Given the description of an element on the screen output the (x, y) to click on. 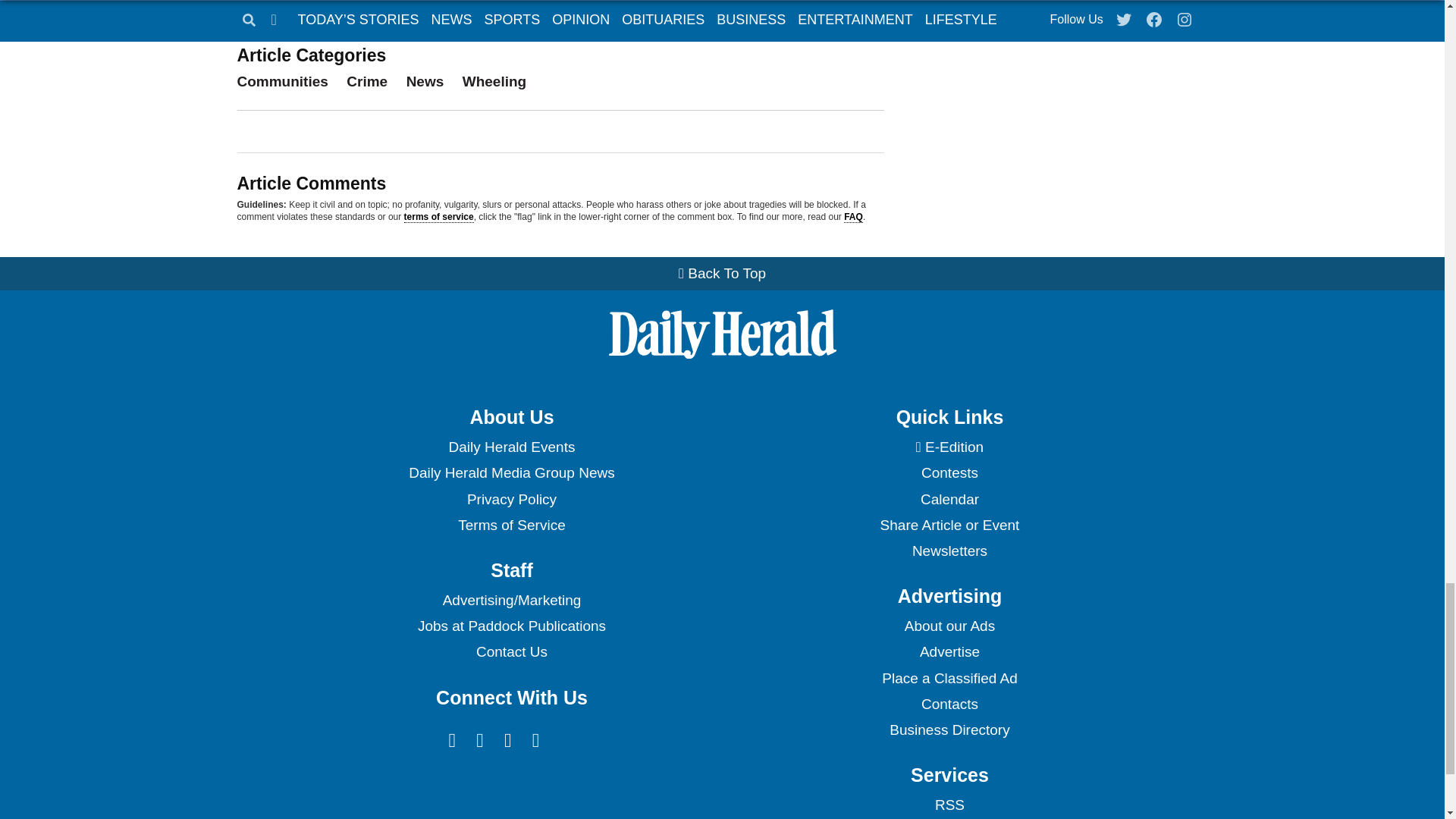
Daily Herald Events (511, 447)
Privacy Policy (511, 499)
Daily Herald Media Group News (511, 473)
